Given the description of an element on the screen output the (x, y) to click on. 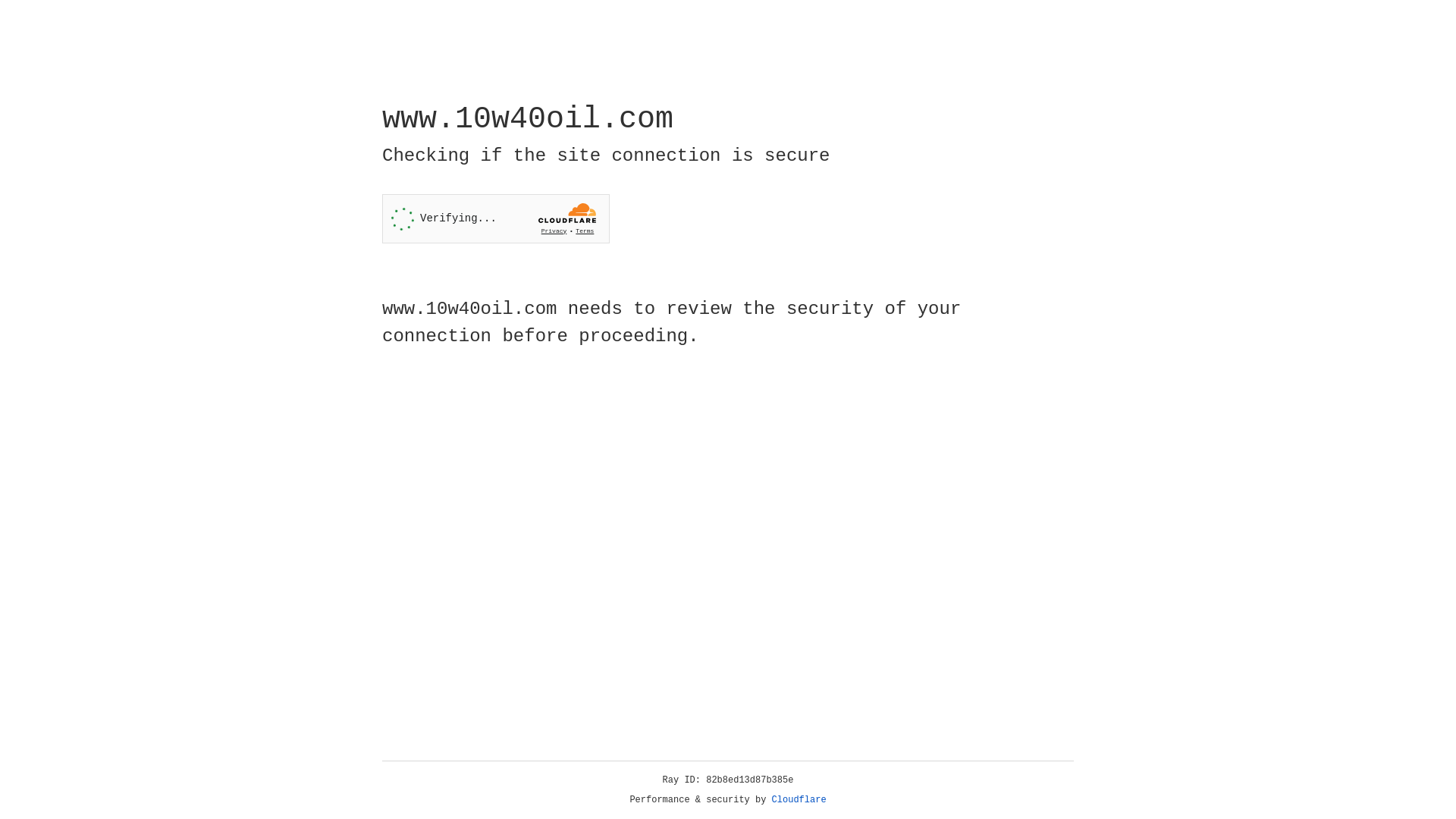
Widget containing a Cloudflare security challenge Element type: hover (495, 218)
Cloudflare Element type: text (798, 799)
